Given the description of an element on the screen output the (x, y) to click on. 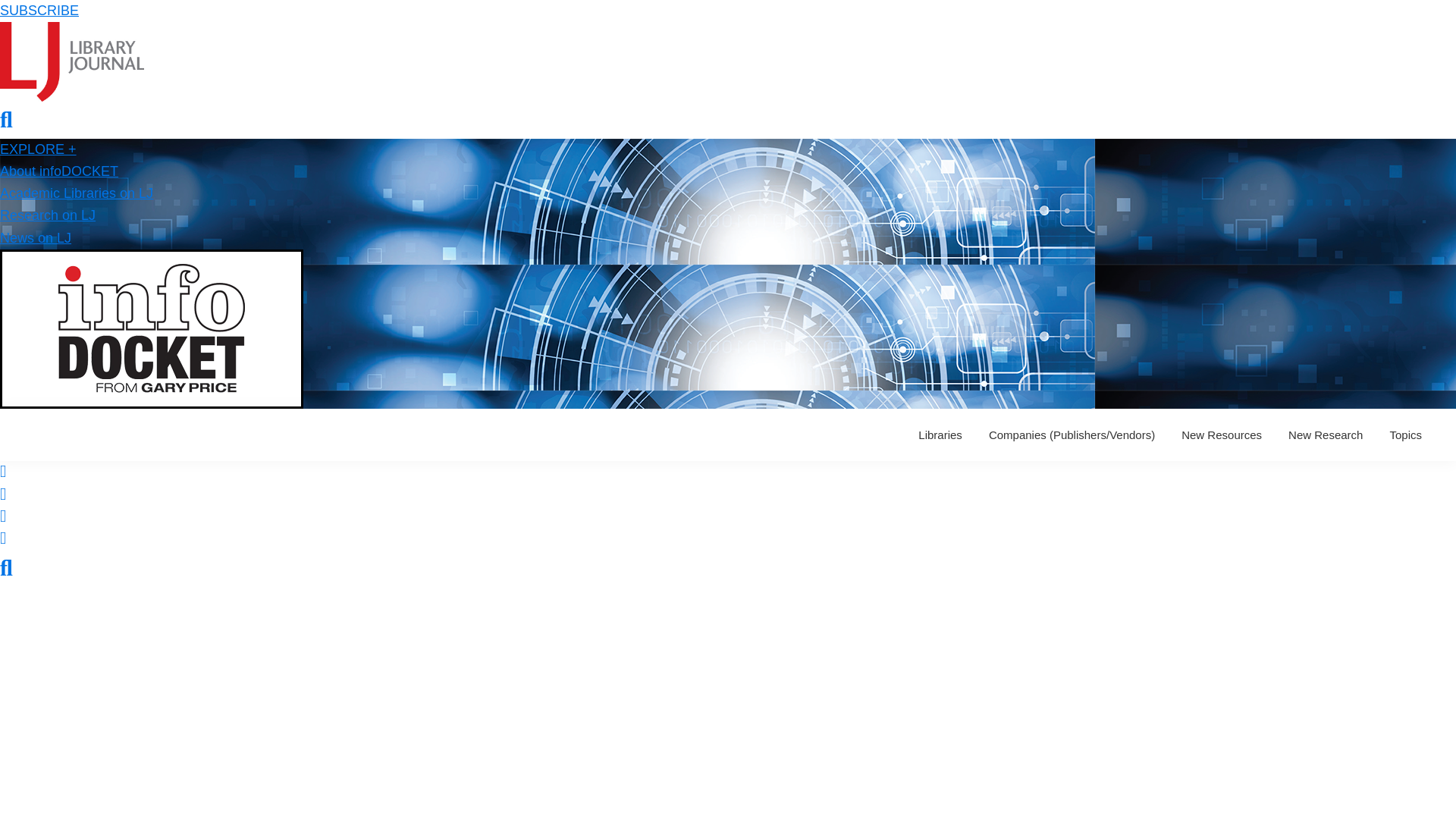
SUBSCRIBE (39, 10)
New Research (1325, 434)
Research on LJ (48, 215)
Academic Libraries on LJ (76, 192)
About infoDOCKET (58, 171)
New Resources (1221, 434)
News on LJ (35, 237)
Libraries (940, 434)
